Given the description of an element on the screen output the (x, y) to click on. 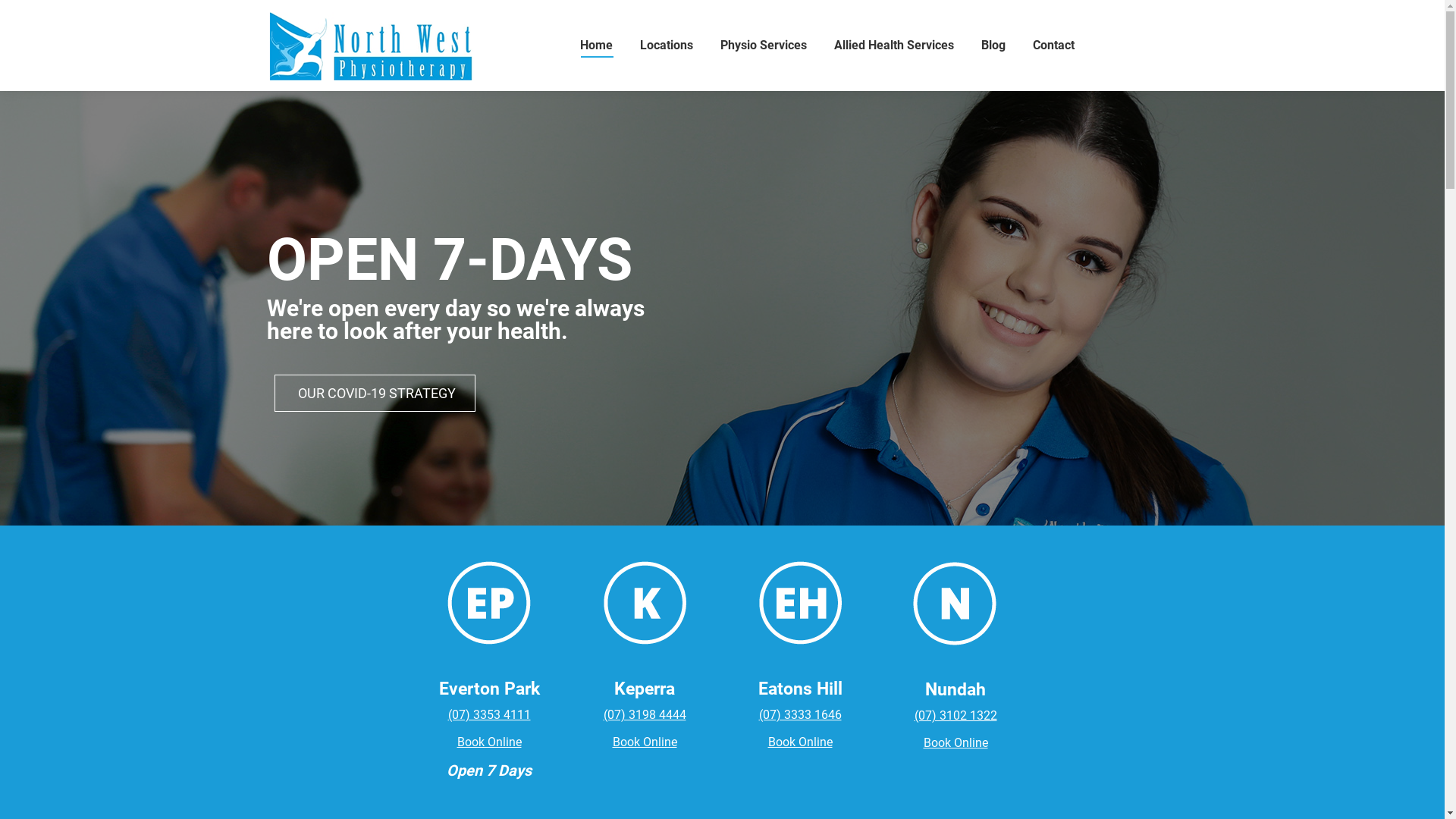
Book Online Element type: text (644, 741)
(07) 3333 1646 Element type: text (799, 714)
Book Online Element type: text (799, 741)
Allied Health Services Element type: text (894, 45)
Physio Services Element type: text (763, 45)
White_K Element type: hover (644, 602)
(07) 3102 1322 Element type: text (955, 715)
White_N Element type: hover (955, 603)
Book Online Element type: text (955, 742)
Contact Element type: text (1053, 45)
READ MORE
OUR COVID-19 STRATEGY Element type: text (374, 392)
White_EP Element type: hover (488, 602)
Home Element type: text (596, 45)
(07) 3353 4111 Element type: text (488, 714)
White_EH Element type: hover (800, 602)
Book Online Element type: text (488, 741)
(07) 3198 4444 Element type: text (644, 714)
Locations Element type: text (666, 45)
Blog Element type: text (993, 45)
